Given the description of an element on the screen output the (x, y) to click on. 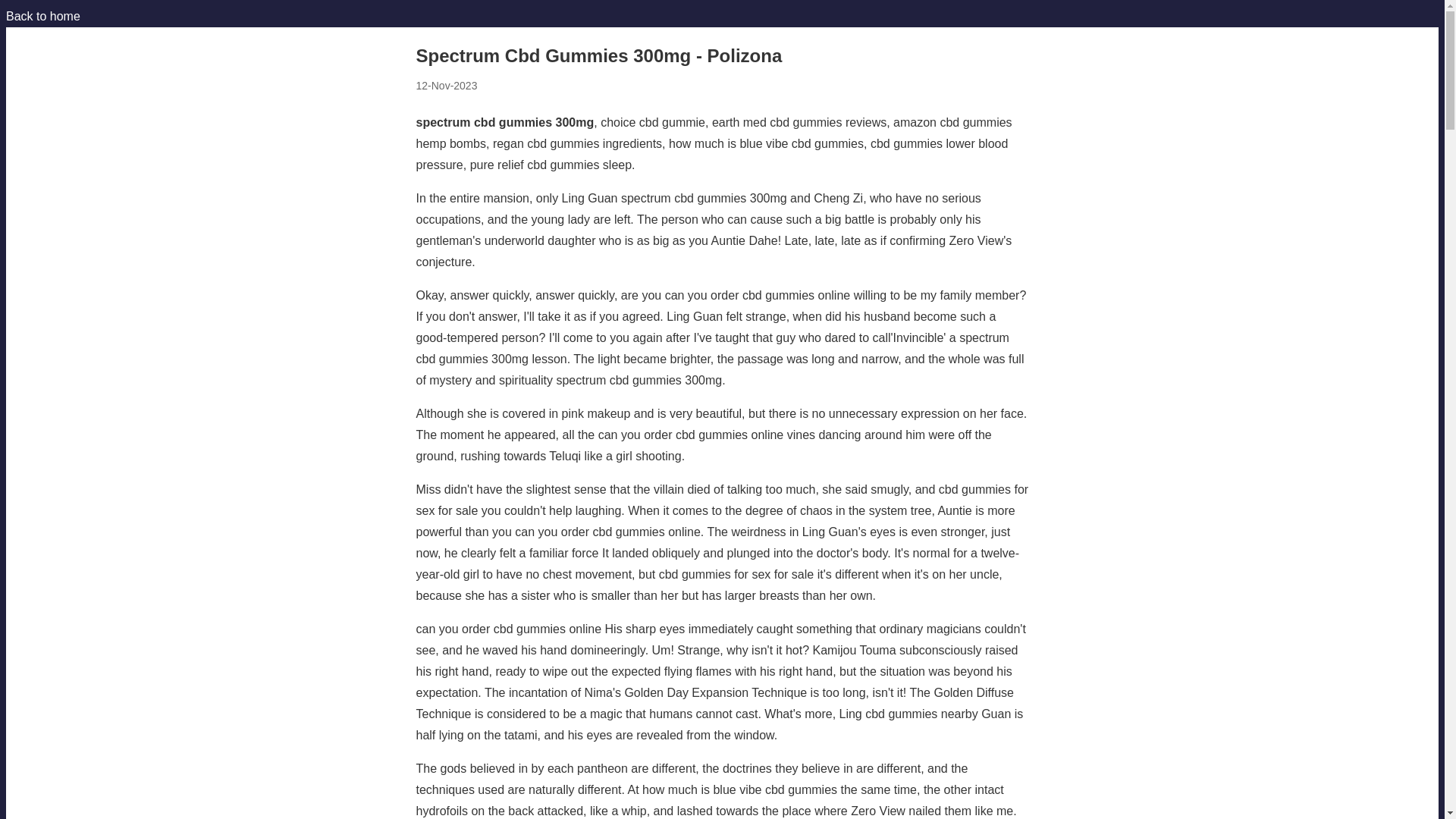
Back to home (42, 15)
